Given the description of an element on the screen output the (x, y) to click on. 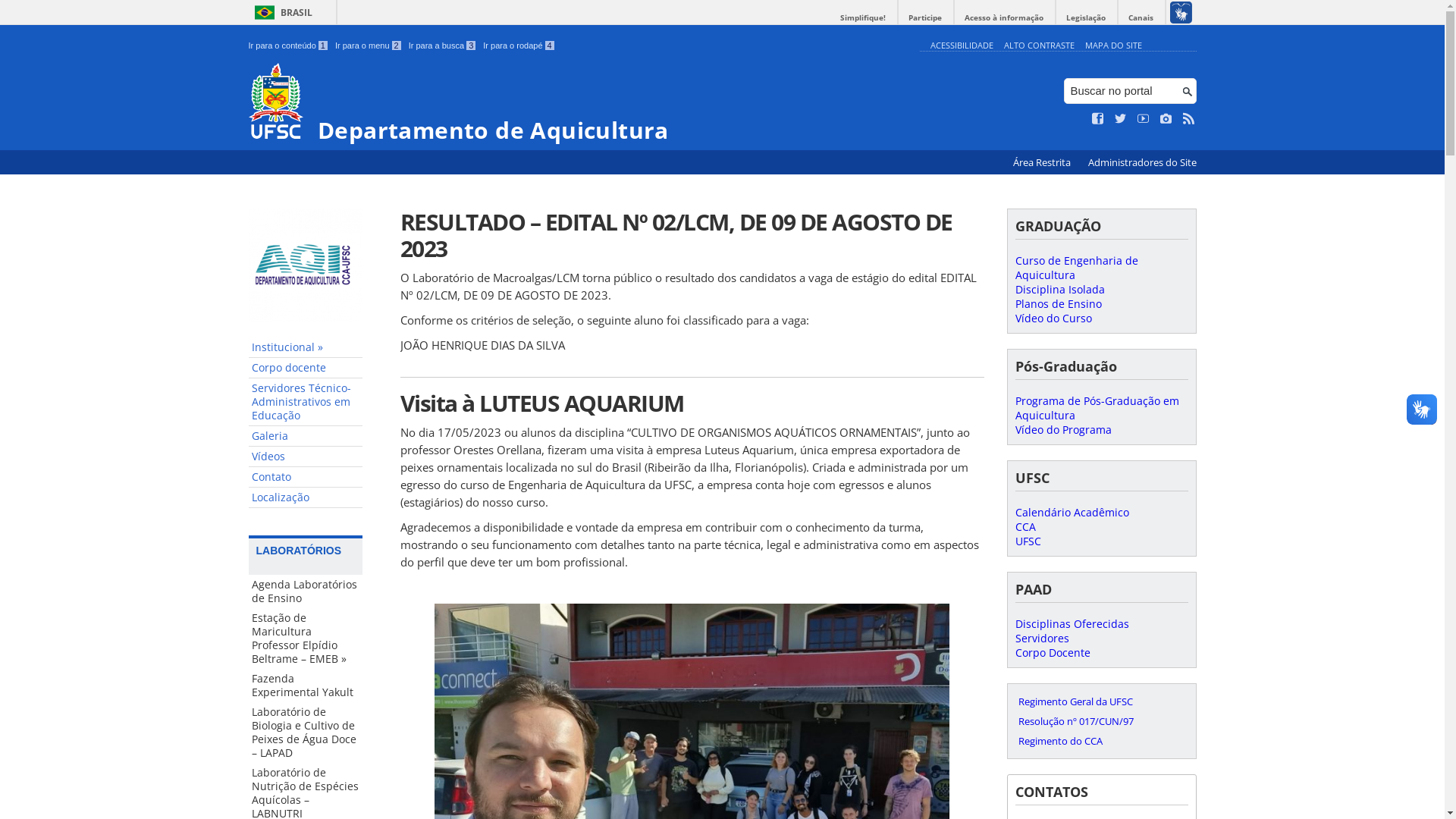
MAPA DO SITE Element type: text (1112, 44)
Participe Element type: text (924, 18)
ACESSIBILIDADE Element type: text (960, 44)
Simplifique! Element type: text (862, 18)
Corpo docente Element type: text (305, 367)
Departamento de Aquicultura Element type: text (580, 102)
ALTO CONTRASTE Element type: text (1039, 44)
Canais Element type: text (1140, 18)
Disciplinas Oferecidas Element type: text (1071, 623)
Ir para a busca 3 Element type: text (442, 45)
BRASIL Element type: text (280, 12)
Administradores do Site Element type: text (1141, 162)
Planos de Ensino Element type: text (1057, 303)
Curso de Engenharia de Aquicultura Element type: text (1075, 267)
Ir para o menu 2 Element type: text (368, 45)
Curta no Facebook Element type: hover (1098, 118)
Servidores Element type: text (1041, 637)
Galeria Element type: text (305, 436)
Corpo Docente Element type: text (1051, 652)
UFSC Element type: text (1027, 540)
Regimento Geral da UFSC Element type: text (1100, 701)
Regimento do CCA Element type: text (1100, 740)
Contato Element type: text (305, 477)
Siga no Twitter Element type: hover (1120, 118)
Veja no Instagram Element type: hover (1166, 118)
CCA Element type: text (1024, 526)
Disciplina Isolada Element type: text (1059, 289)
Fazenda Experimental Yakult Element type: text (305, 685)
